Given the description of an element on the screen output the (x, y) to click on. 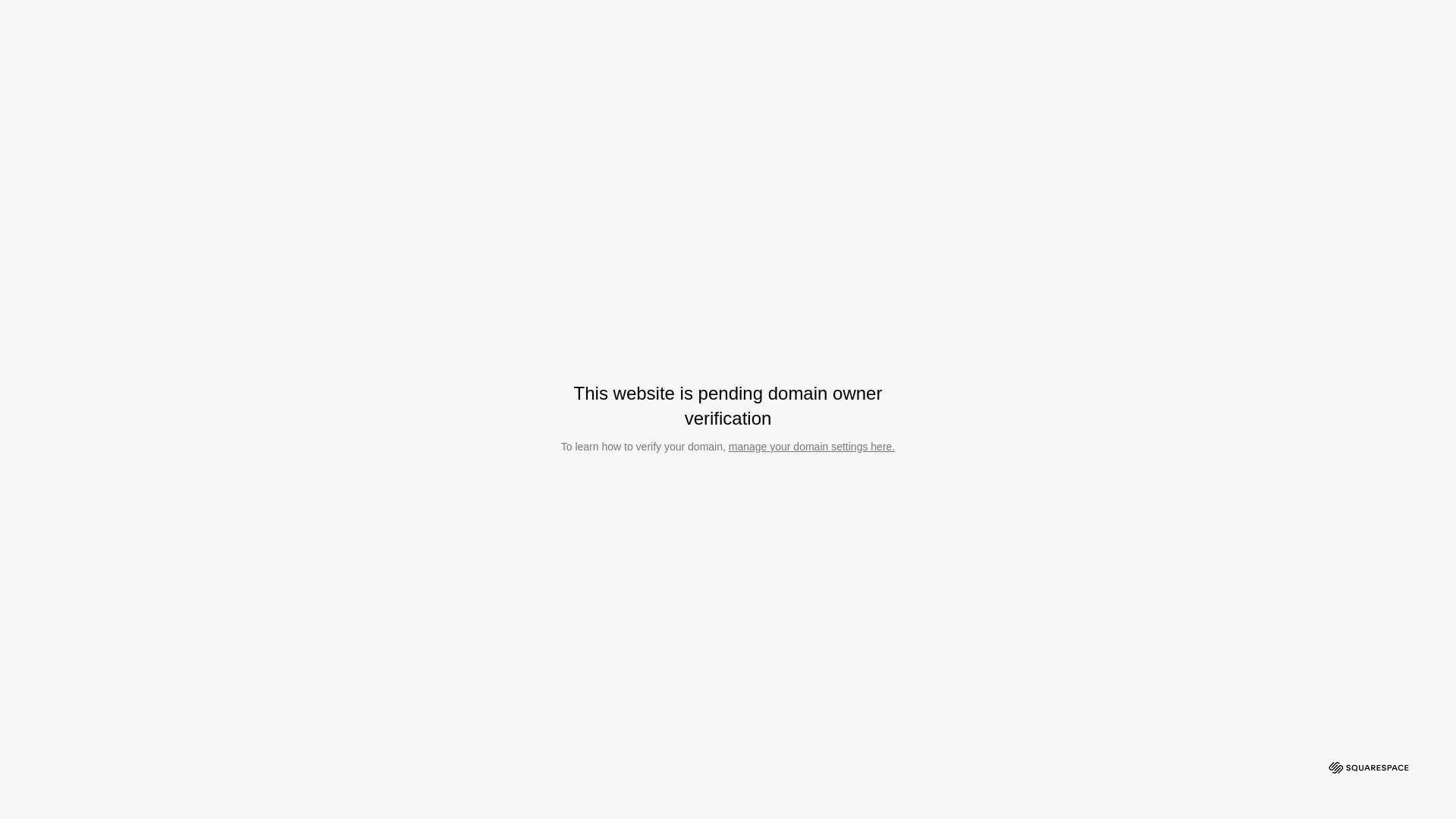
manage your domain settings here. Element type: text (811, 446)
